Given the description of an element on the screen output the (x, y) to click on. 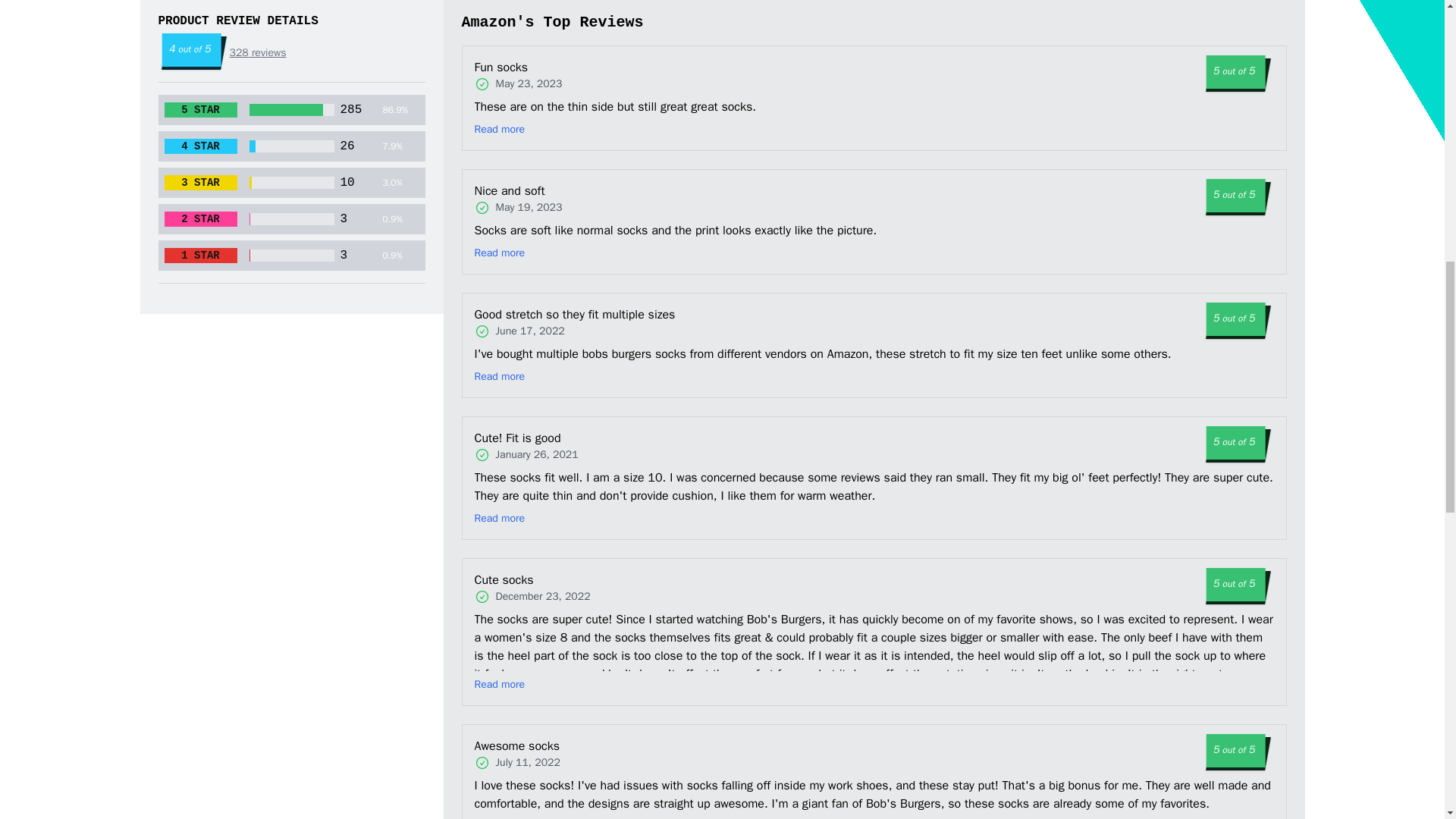
Cute socks (545, 579)
Read more (499, 518)
Read more (499, 376)
Cute! Fit is good (551, 438)
Awesome socks (544, 746)
Read more (499, 684)
Read more (499, 129)
Nice and soft (540, 190)
Read more (499, 253)
Fun socks (534, 67)
Good stretch so they fit multiple sizes (581, 314)
